Given the description of an element on the screen output the (x, y) to click on. 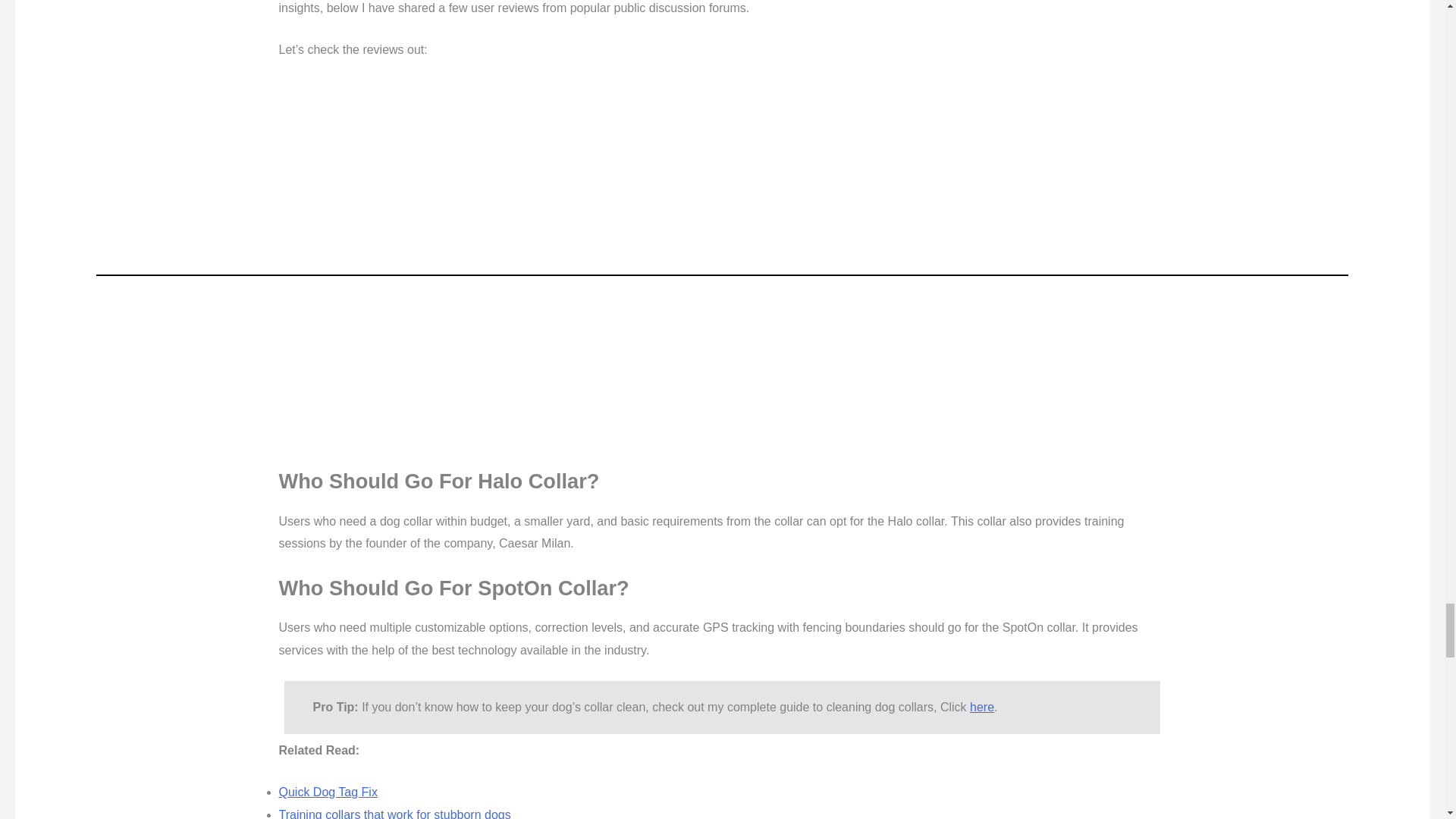
Training collars that work for stubborn dogs (395, 559)
here (981, 452)
Dog Harness Vs. Collar: Detailed Comparison (402, 582)
Quick Dog Tag Fix (328, 537)
